Given the description of an element on the screen output the (x, y) to click on. 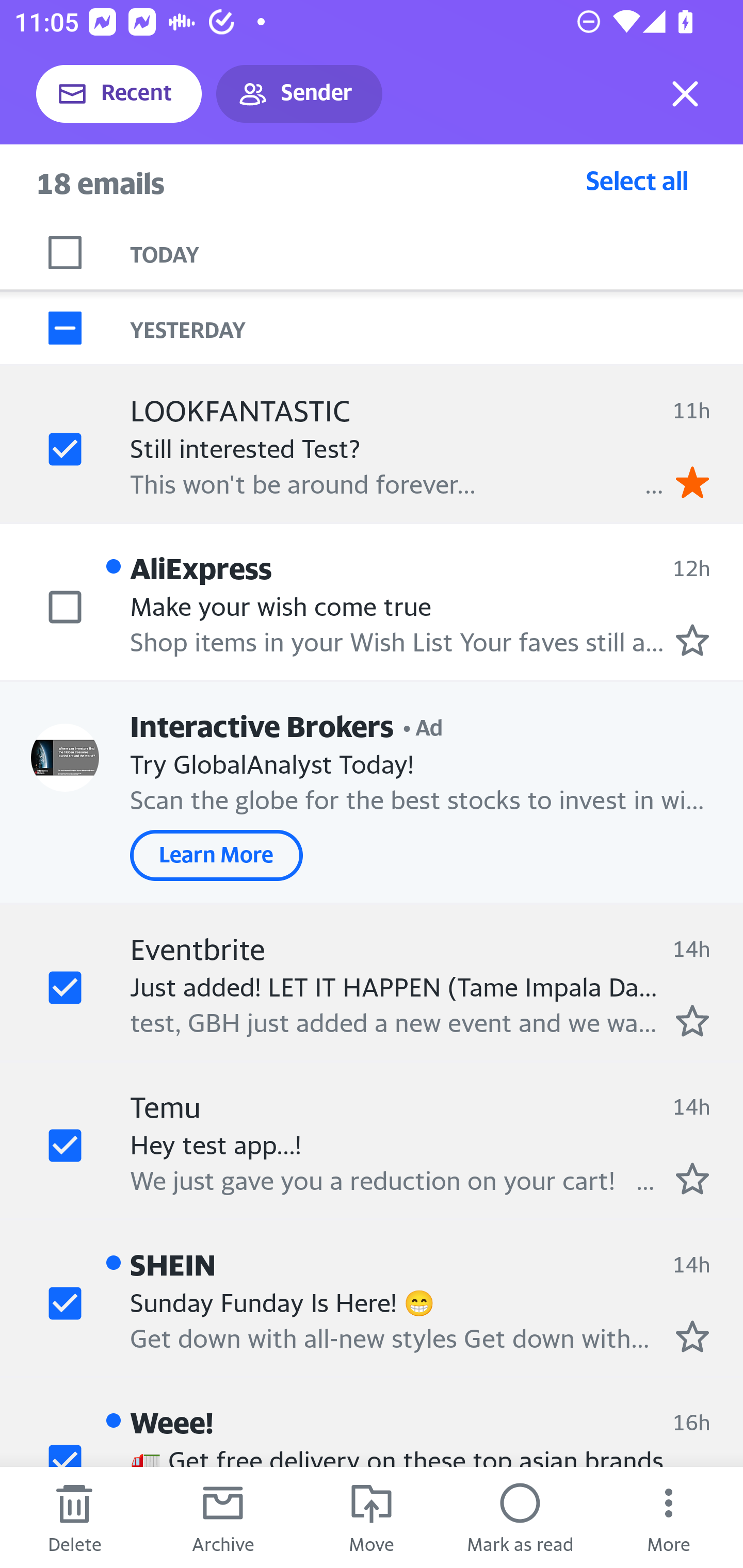
Sender (299, 93)
Exit selection mode (684, 93)
Select all (637, 180)
YESTERDAY (436, 328)
Remove star. (692, 482)
Mark as starred. (692, 640)
Mark as starred. (692, 1019)
Mark as starred. (692, 1178)
Mark as starred. (692, 1336)
Delete (74, 1517)
Archive (222, 1517)
Move (371, 1517)
Mark as read (519, 1517)
More (668, 1517)
